Given the description of an element on the screen output the (x, y) to click on. 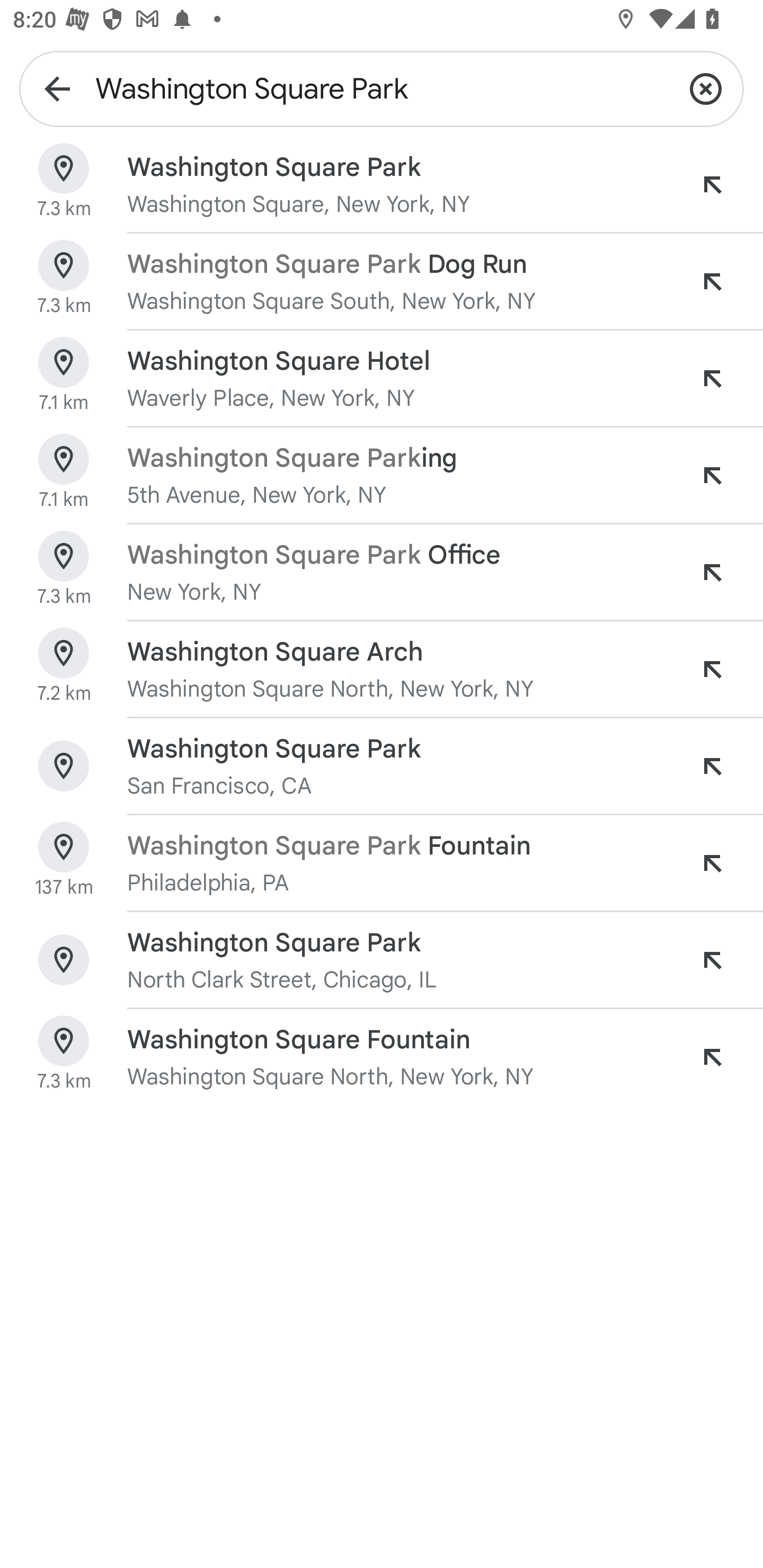
Navigate up (57, 88)
Washington Square Park (381, 88)
Clear (705, 88)
